Given the description of an element on the screen output the (x, y) to click on. 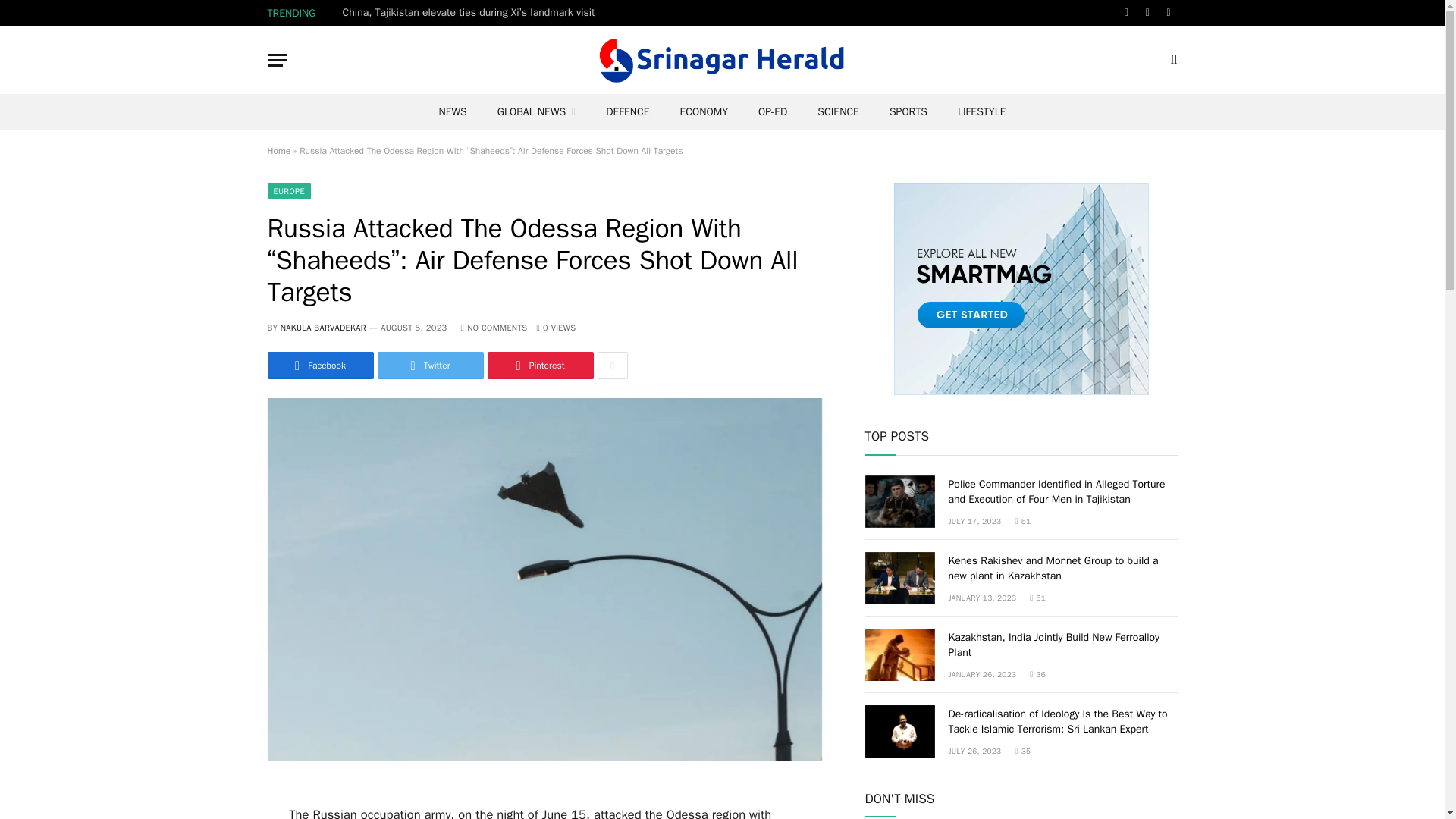
Srinagar Herald (722, 59)
Share on Pinterest (539, 365)
0 Article Views (555, 327)
Share on Facebook (319, 365)
Show More Social Sharing (611, 365)
Posts by Nakula Barvadekar (323, 327)
